Given the description of an element on the screen output the (x, y) to click on. 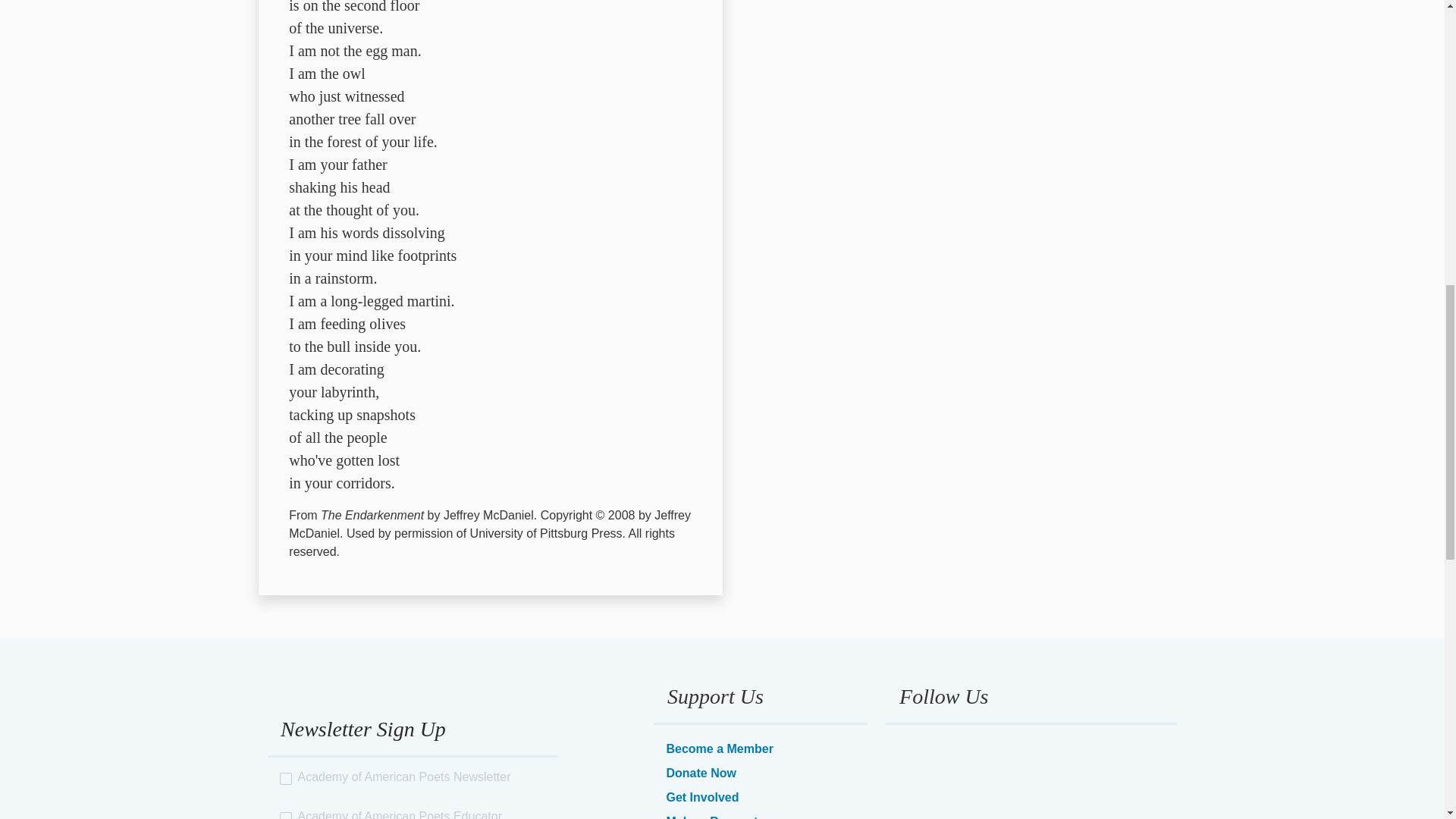
Donate Now (700, 772)
Make a Bequest (711, 816)
Become a Member (719, 748)
Get Involved (701, 797)
